Given the description of an element on the screen output the (x, y) to click on. 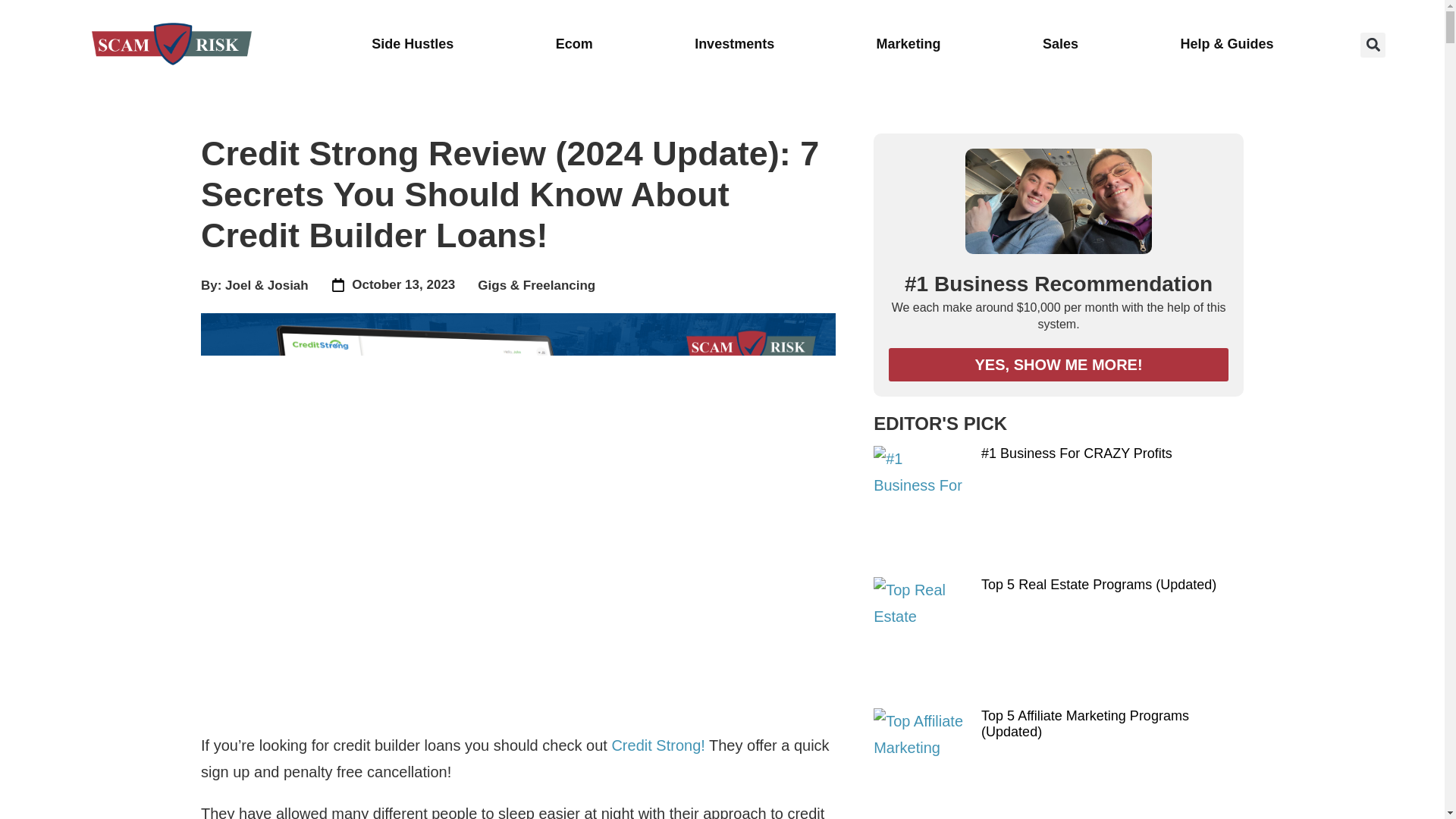
Marketing (908, 43)
Side Hustles (411, 43)
Investments (734, 43)
Sales (1060, 43)
Ecom (573, 43)
